Given the description of an element on the screen output the (x, y) to click on. 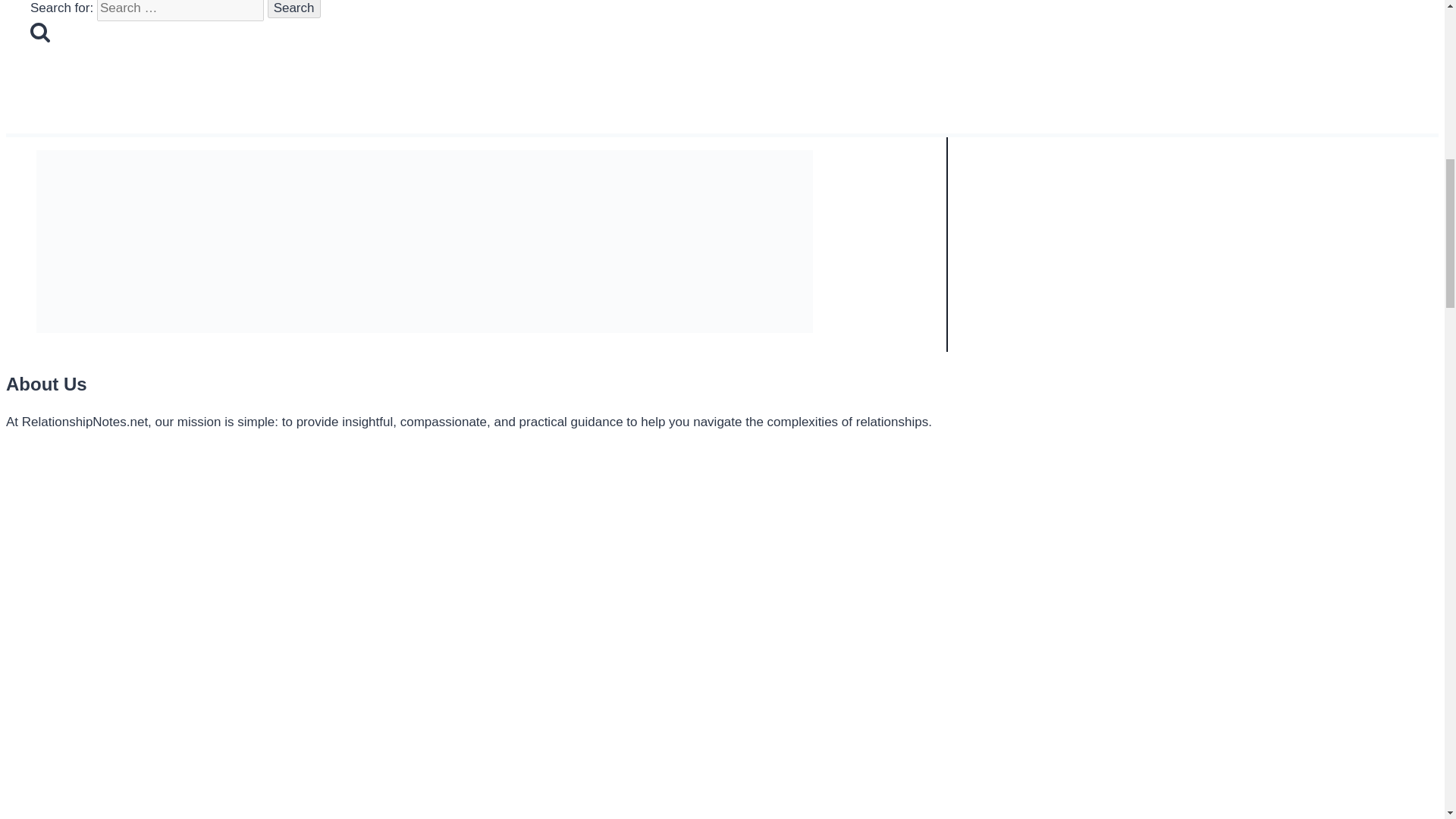
Search (293, 9)
Search (293, 9)
Search (293, 9)
Search (39, 31)
